Given the description of an element on the screen output the (x, y) to click on. 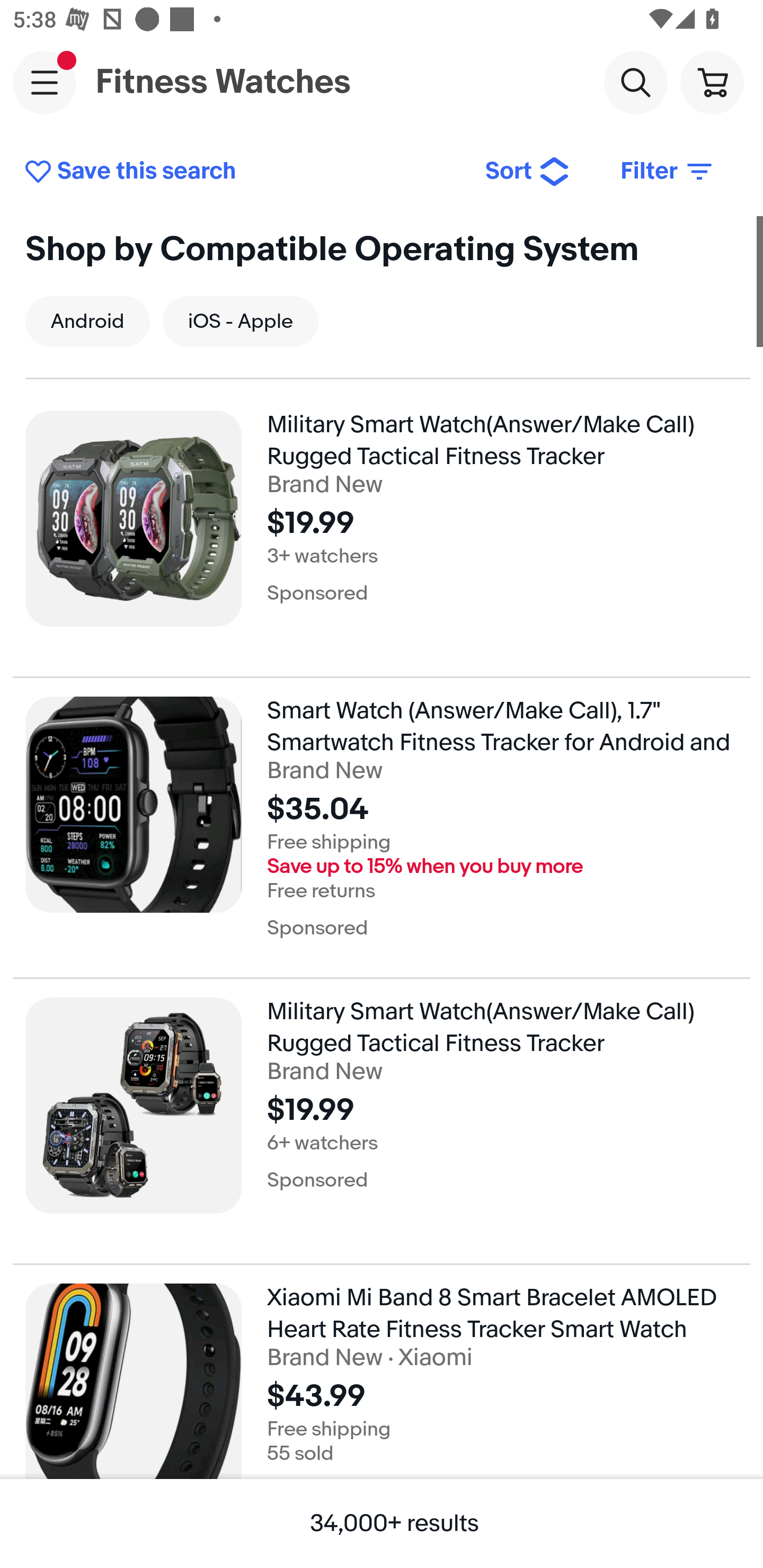
Main navigation, notification is pending, open (44, 82)
Search (635, 81)
Cart button shopping cart (711, 81)
Save this search (241, 171)
Sort (527, 171)
Filter (667, 171)
Android Android, Compatible Operating System (87, 321)
